Given the description of an element on the screen output the (x, y) to click on. 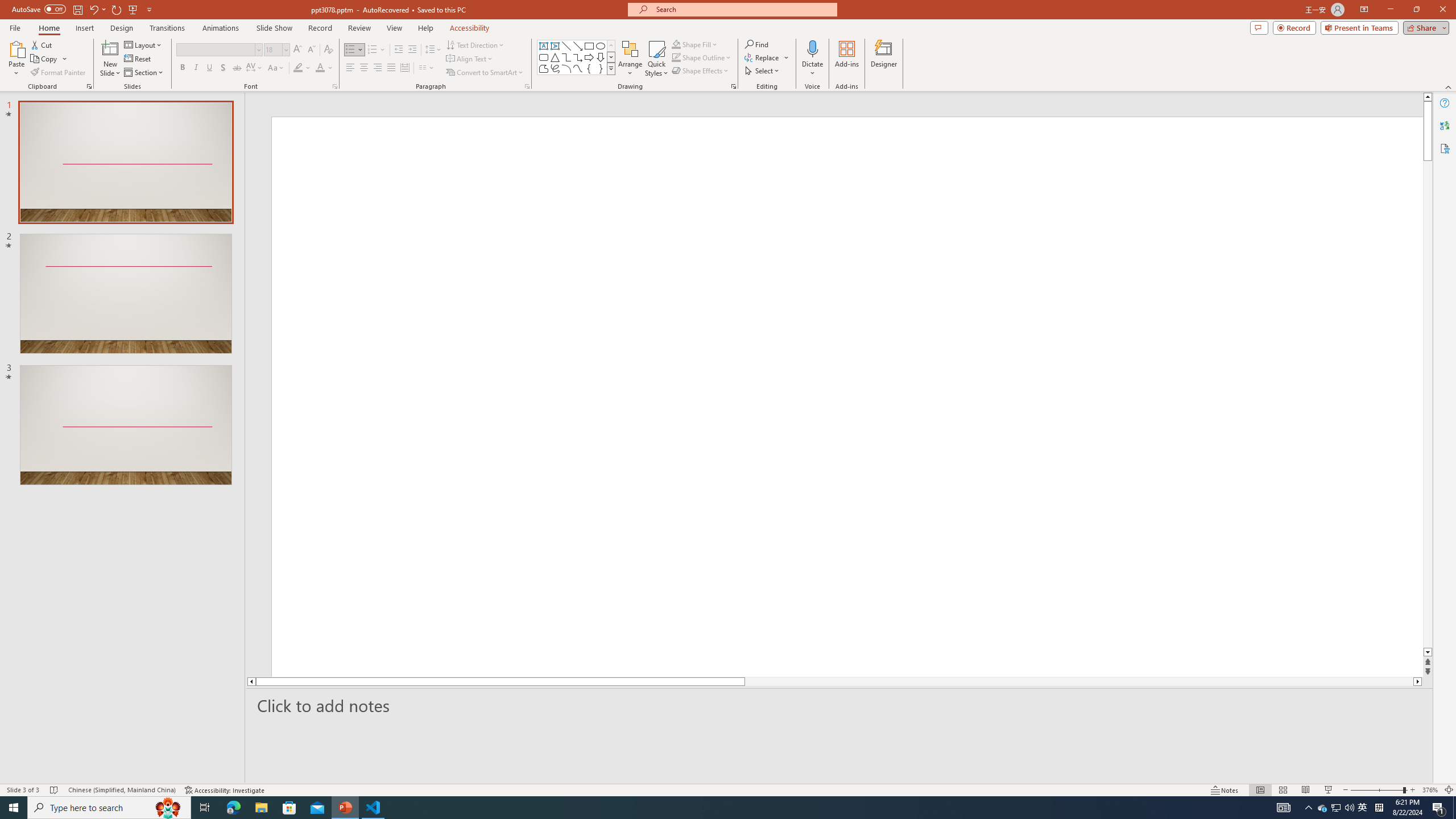
An abstract genetic concept (834, 395)
